Given the description of an element on the screen output the (x, y) to click on. 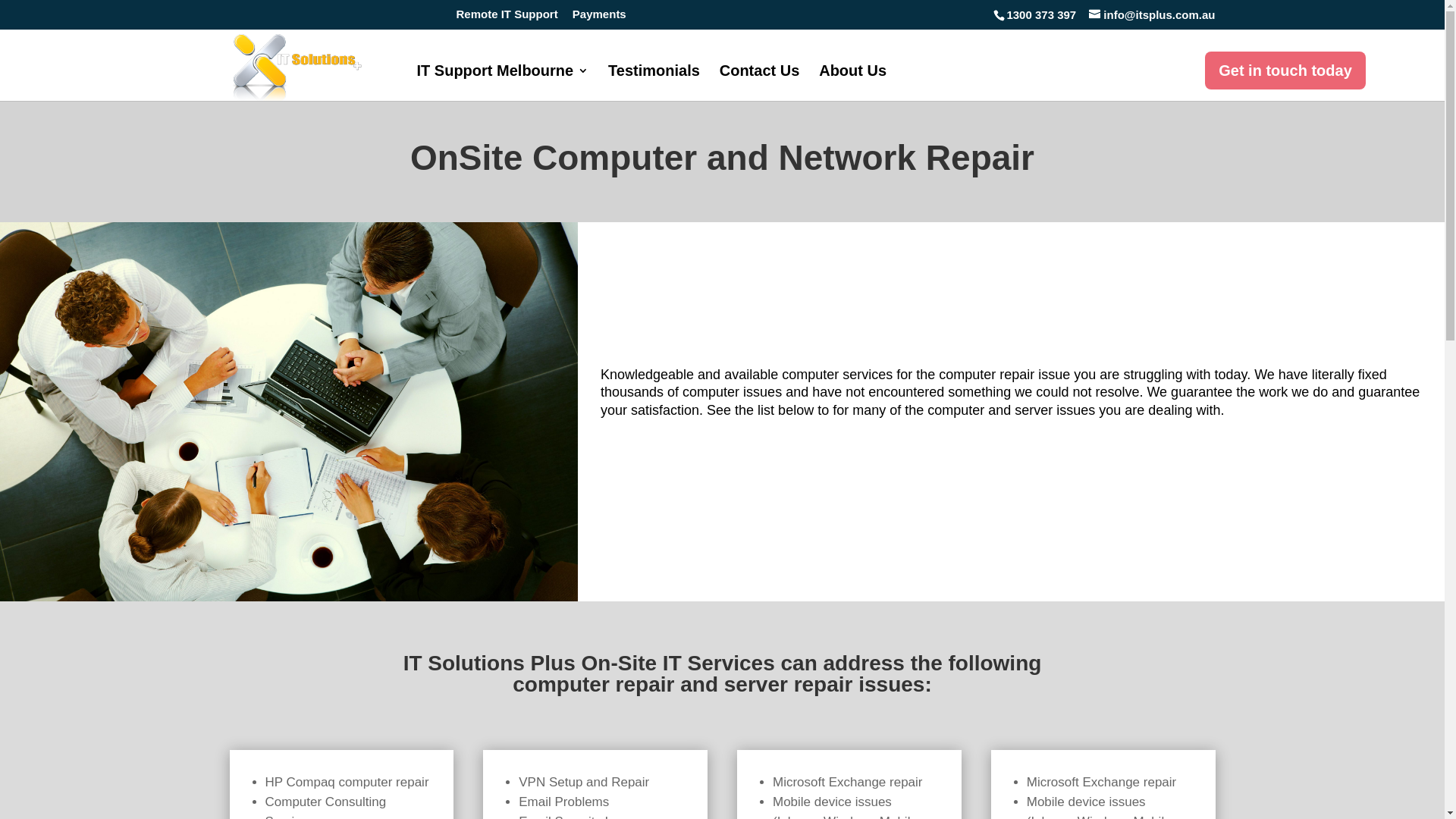
Payments Element type: text (599, 18)
Contact Us Element type: text (759, 82)
IT Support Melbourne Element type: text (503, 82)
info@itsplus.com.au Element type: text (1151, 14)
About Us Element type: text (852, 82)
Remote IT Support Element type: text (507, 18)
1300 373 397 Element type: text (1039, 14)
Get in touch today Element type: text (1284, 70)
Testimonials Element type: text (653, 82)
